Given the description of an element on the screen output the (x, y) to click on. 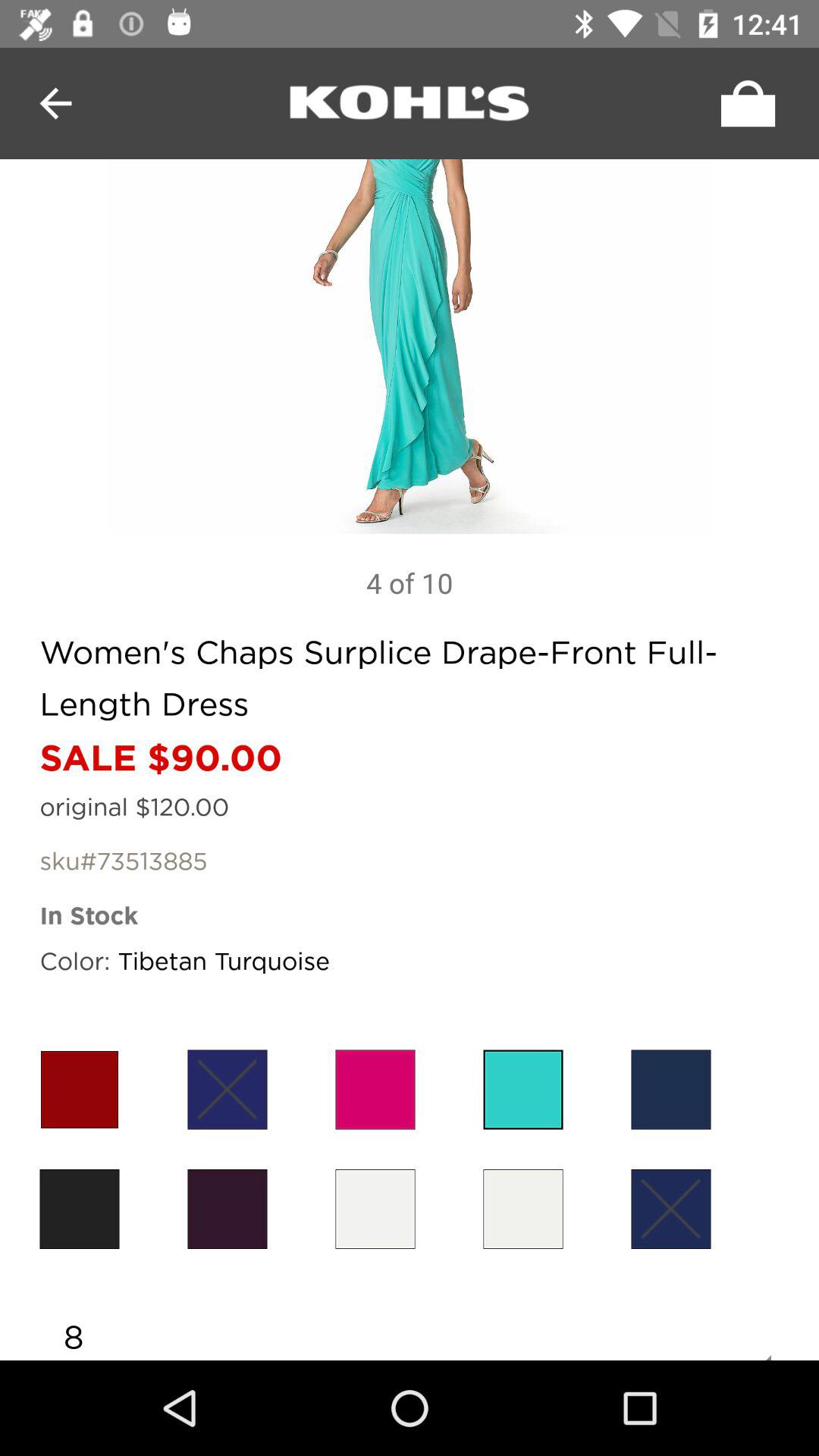
color selection (375, 1208)
